Given the description of an element on the screen output the (x, y) to click on. 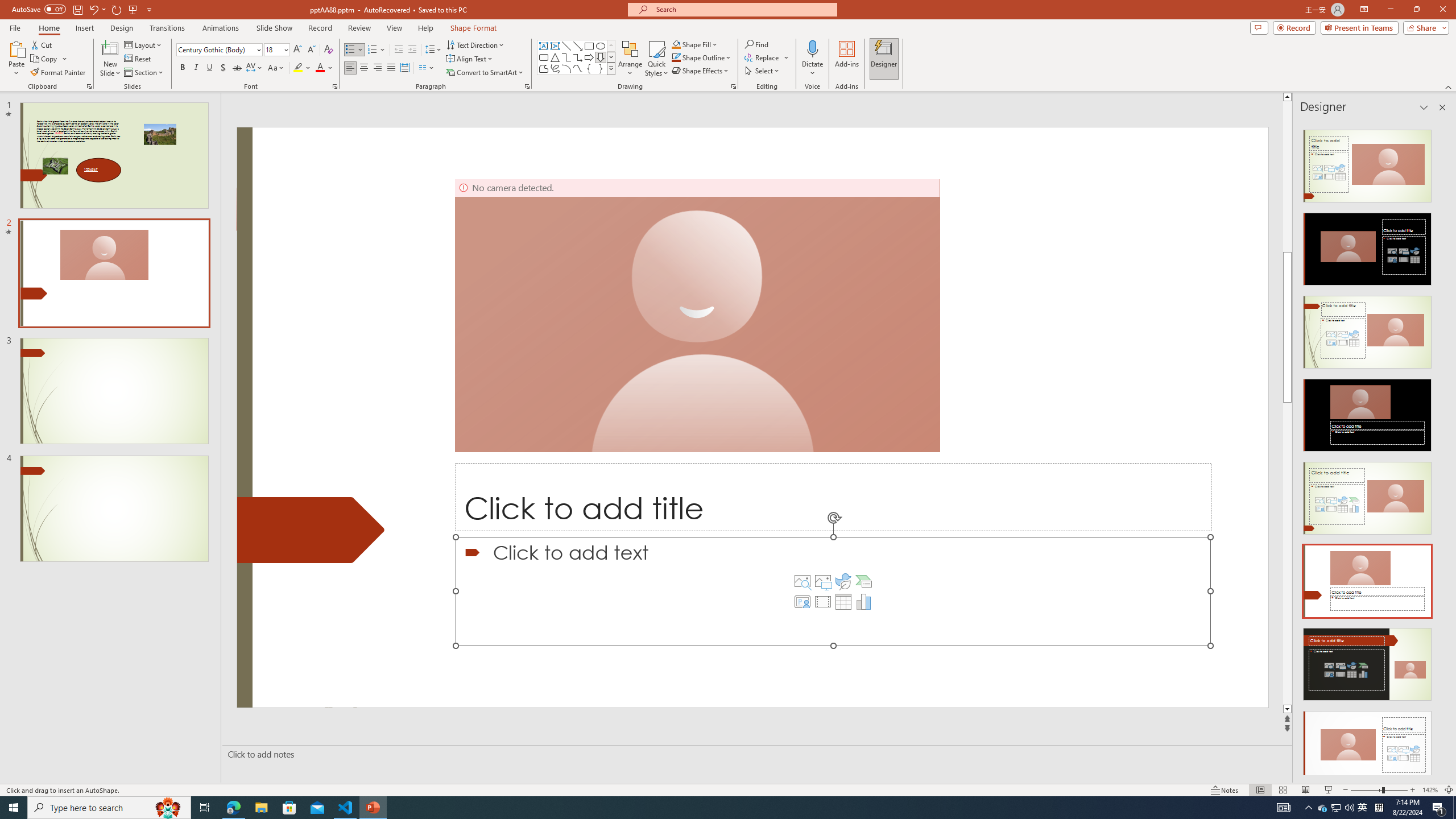
Class: NetUIImage (610, 68)
System (6, 6)
Undo (92, 9)
Zoom Out (1366, 790)
Align Left (349, 67)
Camera 7, No camera detected. (697, 314)
Slide Sorter (1282, 790)
Recommended Design: Design Idea (1366, 162)
Bullets (354, 49)
Line (566, 45)
Insert Video (822, 601)
Decorative Locked (310, 530)
Format Painter (58, 72)
Quick Access Toolbar (82, 9)
Row Down (611, 56)
